Given the description of an element on the screen output the (x, y) to click on. 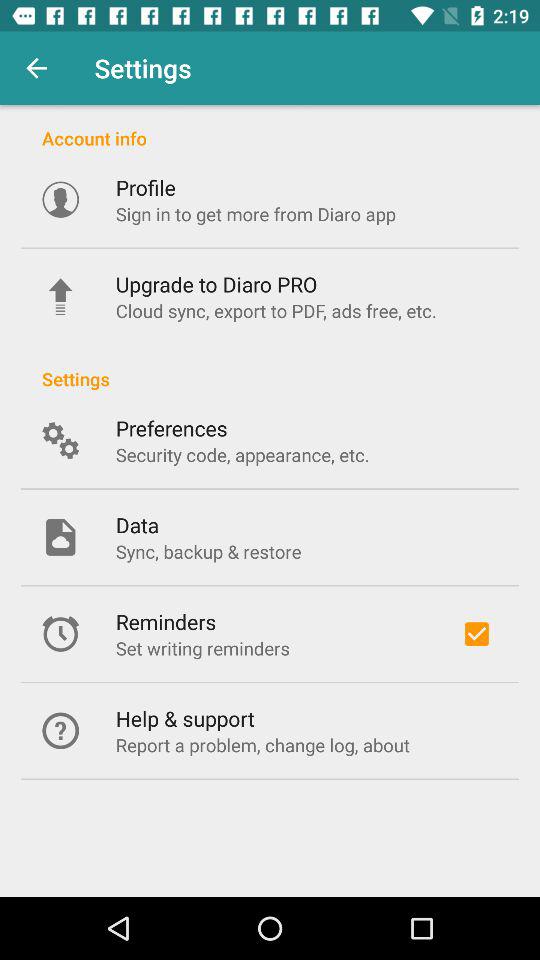
press icon below the set writing reminders icon (184, 718)
